Given the description of an element on the screen output the (x, y) to click on. 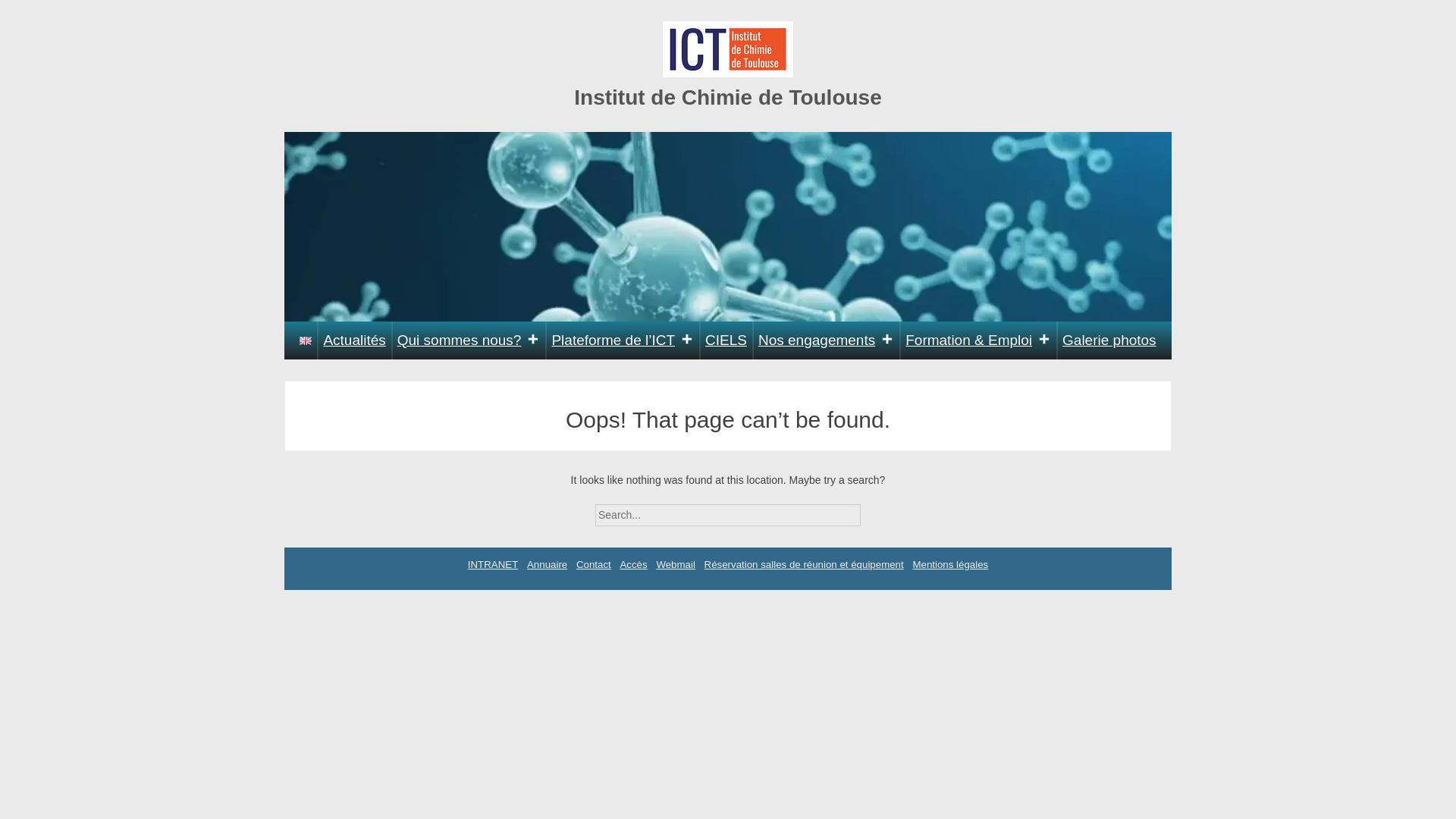
Nos engagements (825, 340)
CIELS (726, 340)
Search (873, 509)
Search (873, 509)
Qui sommes nous? (468, 340)
Institut de Chimie de Toulouse (727, 97)
